Given the description of an element on the screen output the (x, y) to click on. 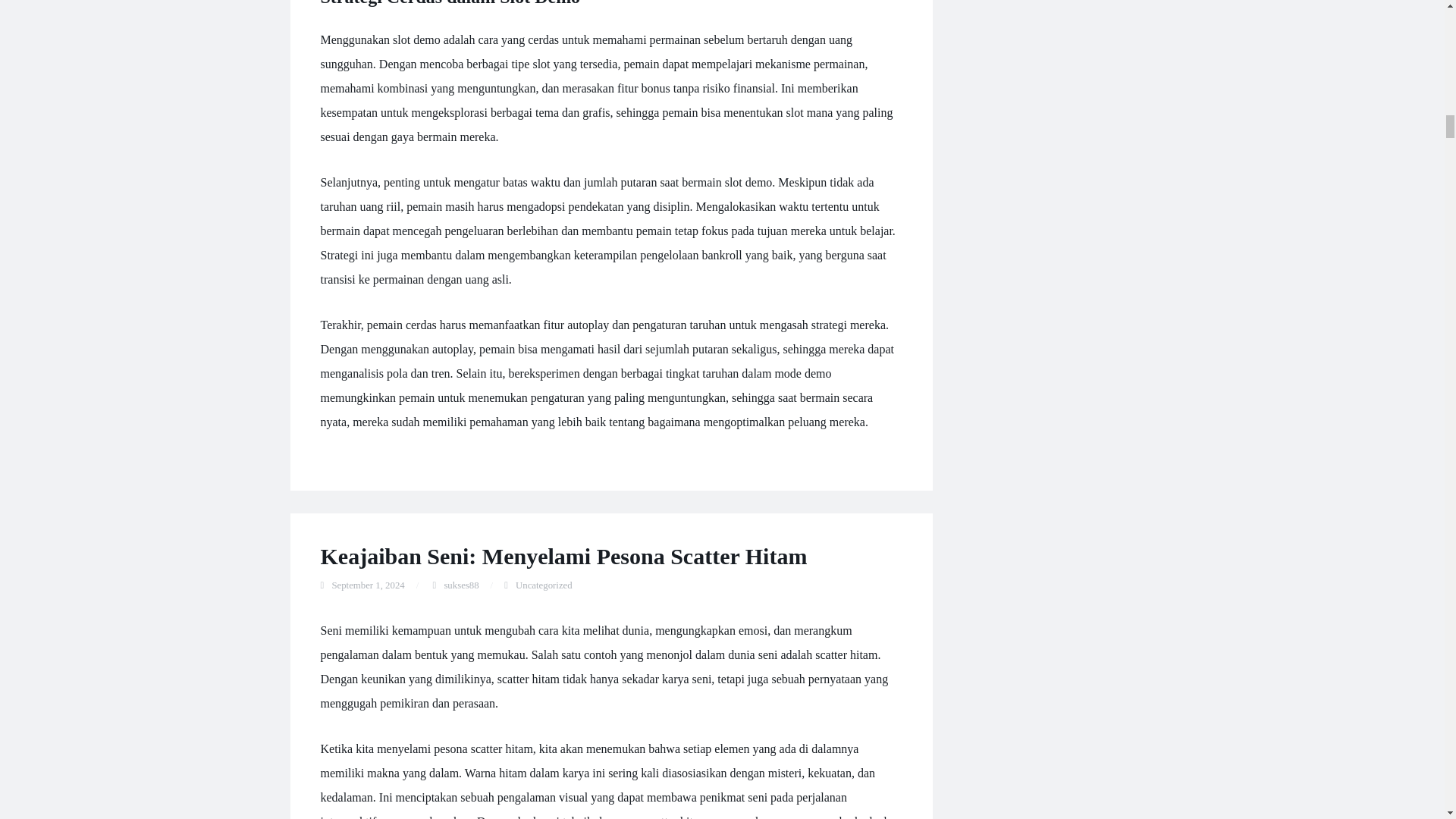
sukses88 (461, 584)
Uncategorized (543, 584)
September 1, 2024 (367, 584)
Keajaiban Seni: Menyelami Pesona Scatter Hitam (563, 555)
